Given the description of an element on the screen output the (x, y) to click on. 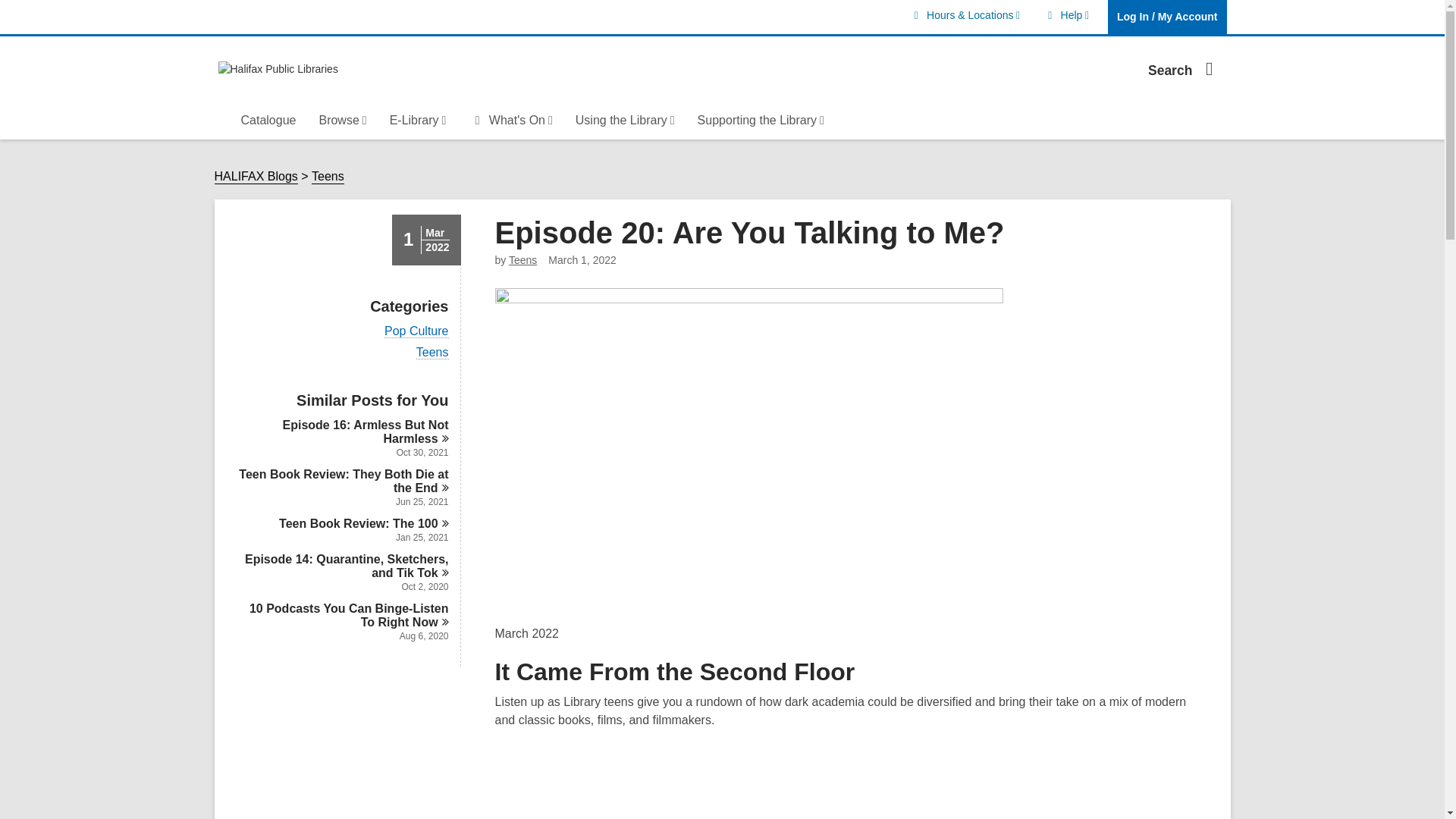
Search (1066, 15)
YouTube video player (1184, 68)
